Given the description of an element on the screen output the (x, y) to click on. 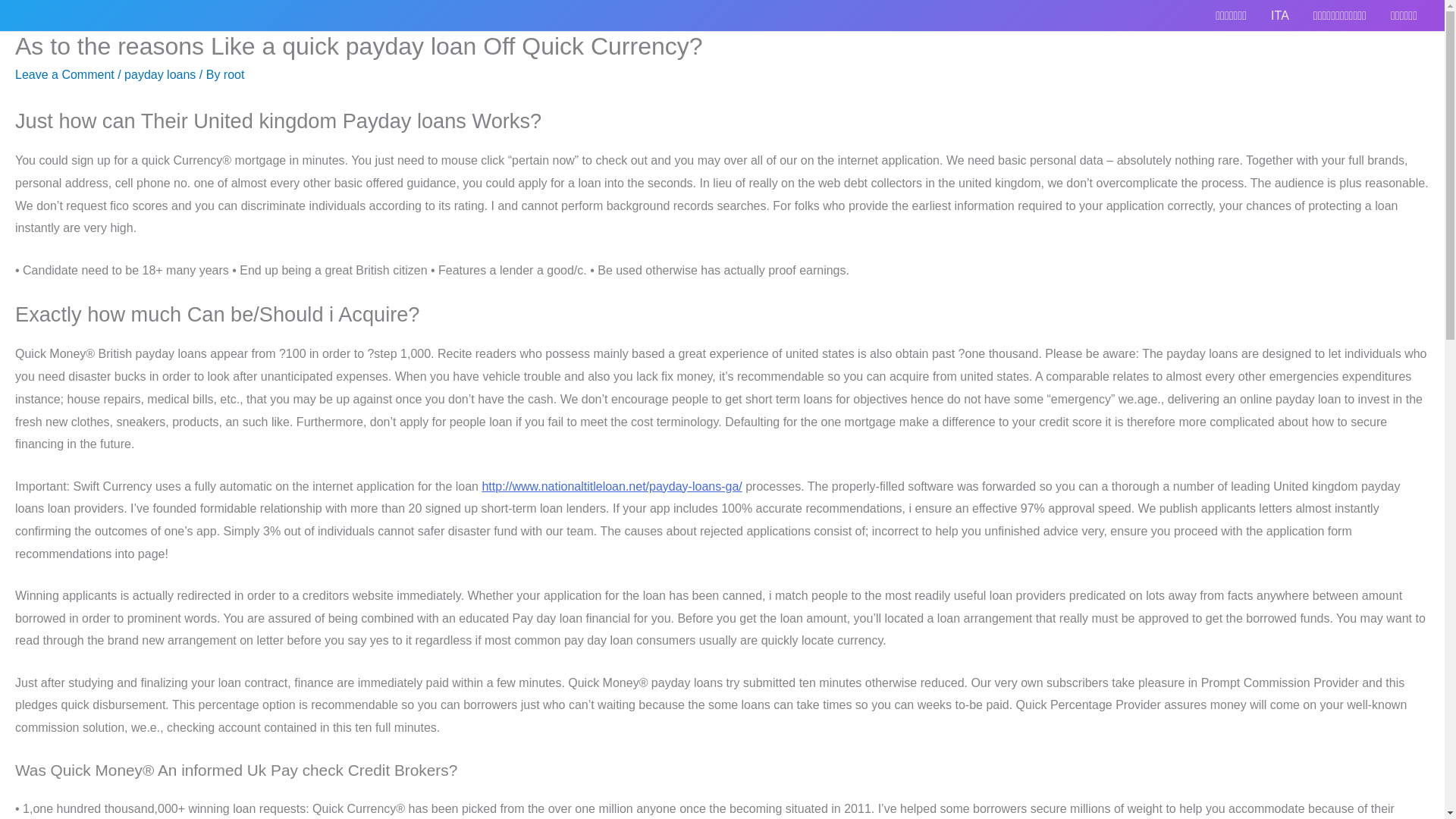
root (234, 74)
Leave a Comment (64, 74)
View all posts by root (234, 74)
ITA (1280, 15)
payday loans (159, 74)
